Given the description of an element on the screen output the (x, y) to click on. 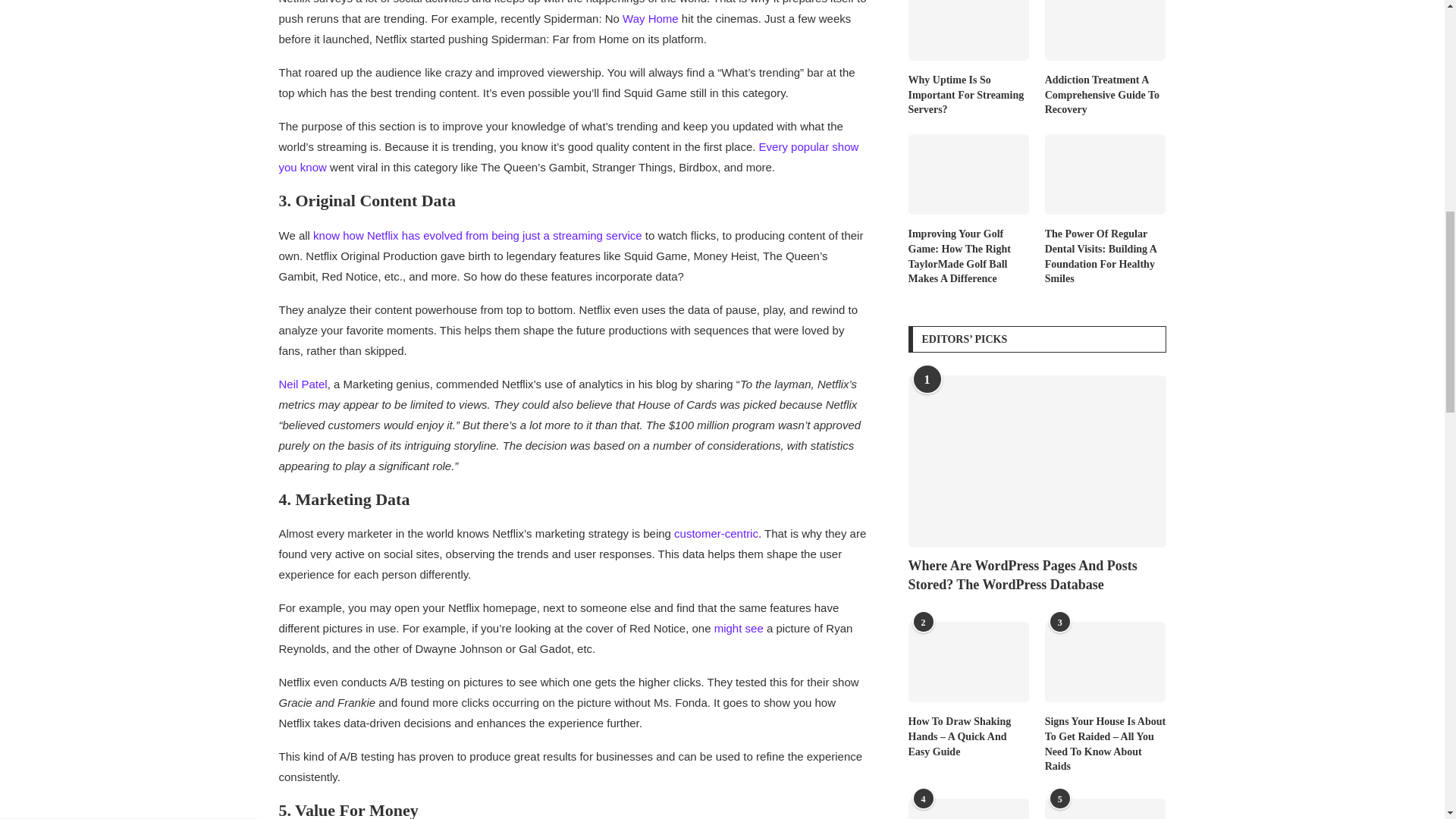
customer-centric (716, 533)
Way Home (650, 18)
might see (738, 627)
Neil Patel (303, 383)
Every popular show you know (569, 156)
